Given the description of an element on the screen output the (x, y) to click on. 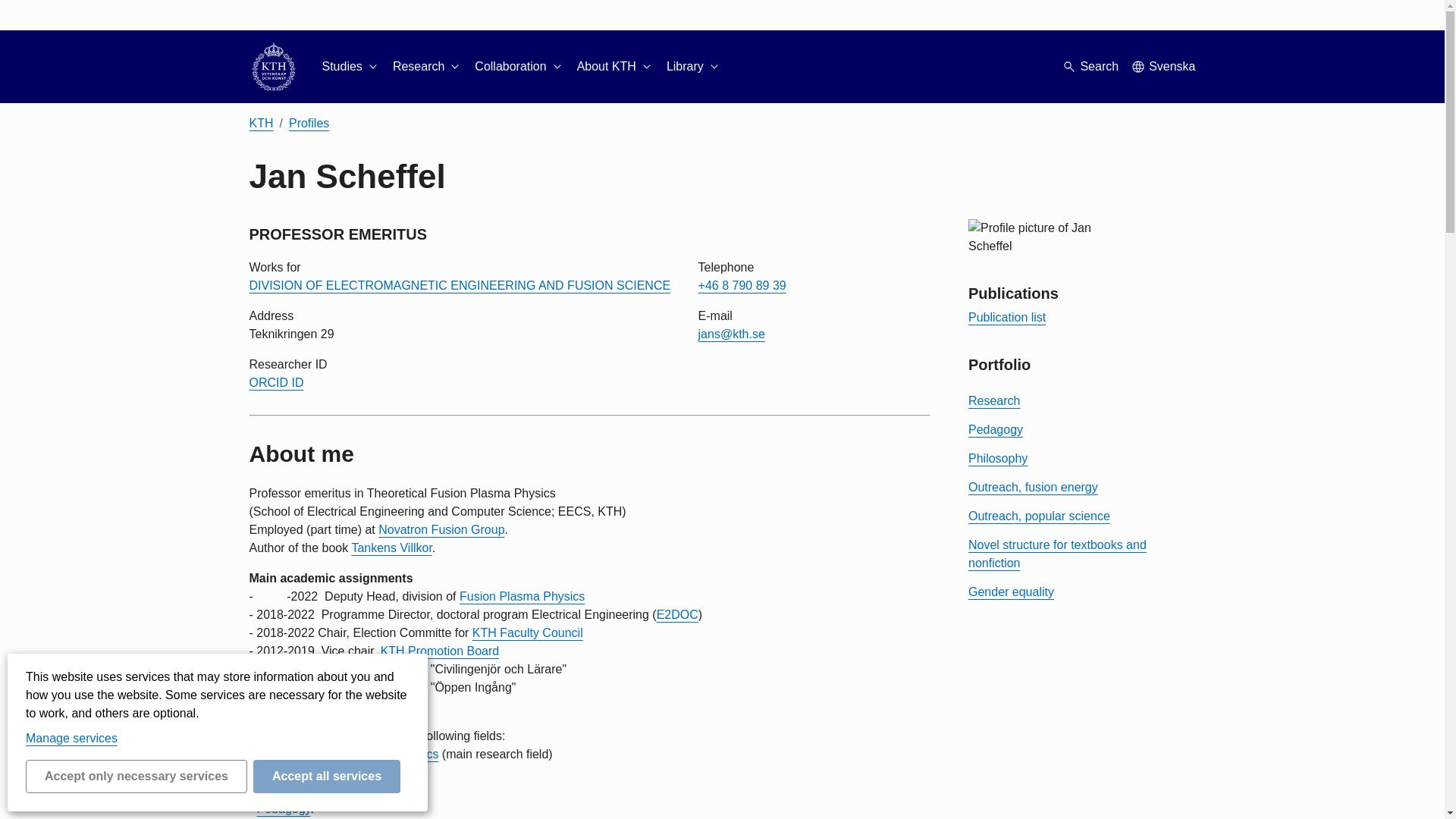
Studies (350, 66)
Research (428, 66)
Collaboration (519, 66)
Library (694, 66)
About KTH (614, 66)
